Given the description of an element on the screen output the (x, y) to click on. 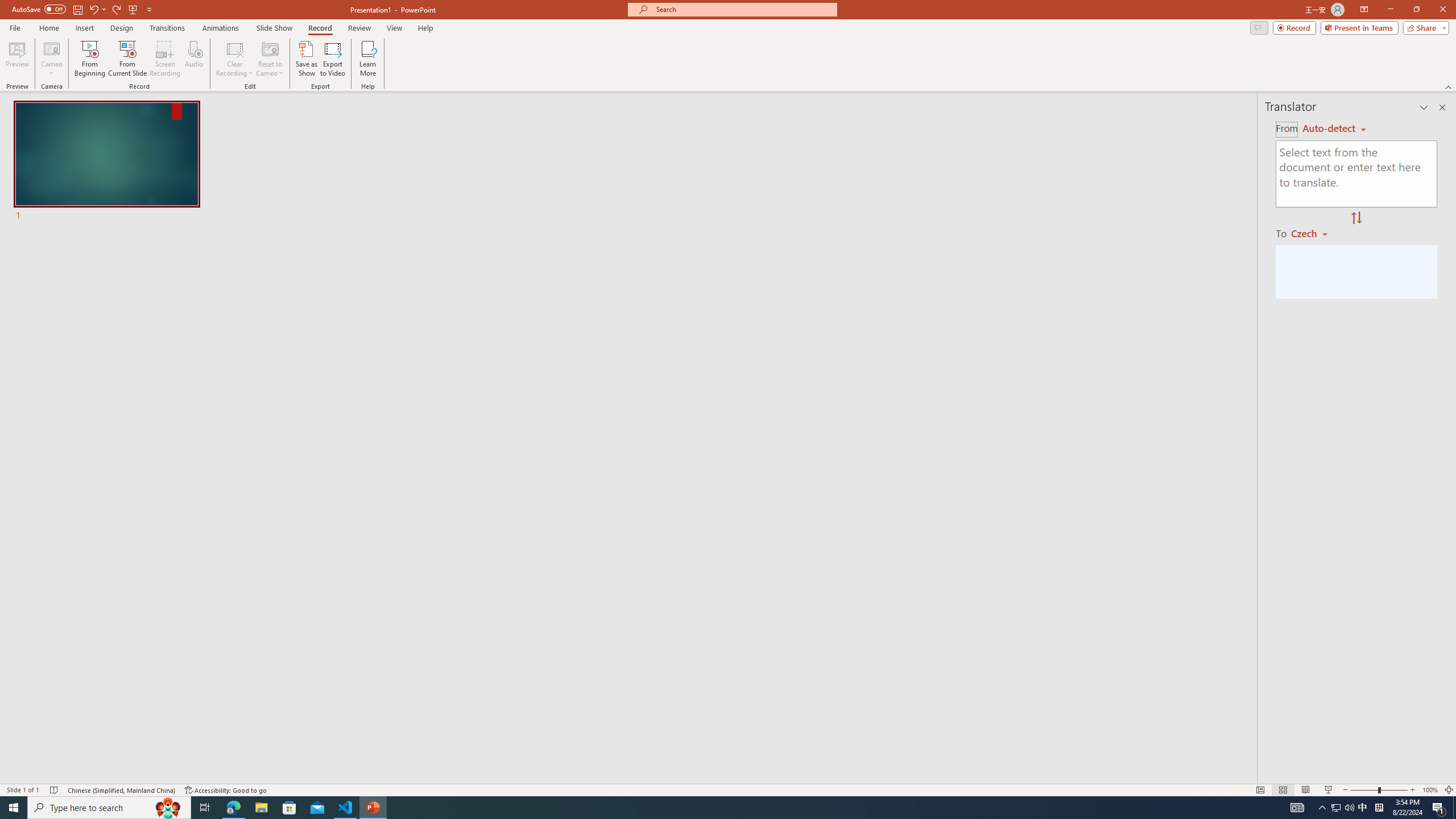
Screen Recording (165, 58)
